Given the description of an element on the screen output the (x, y) to click on. 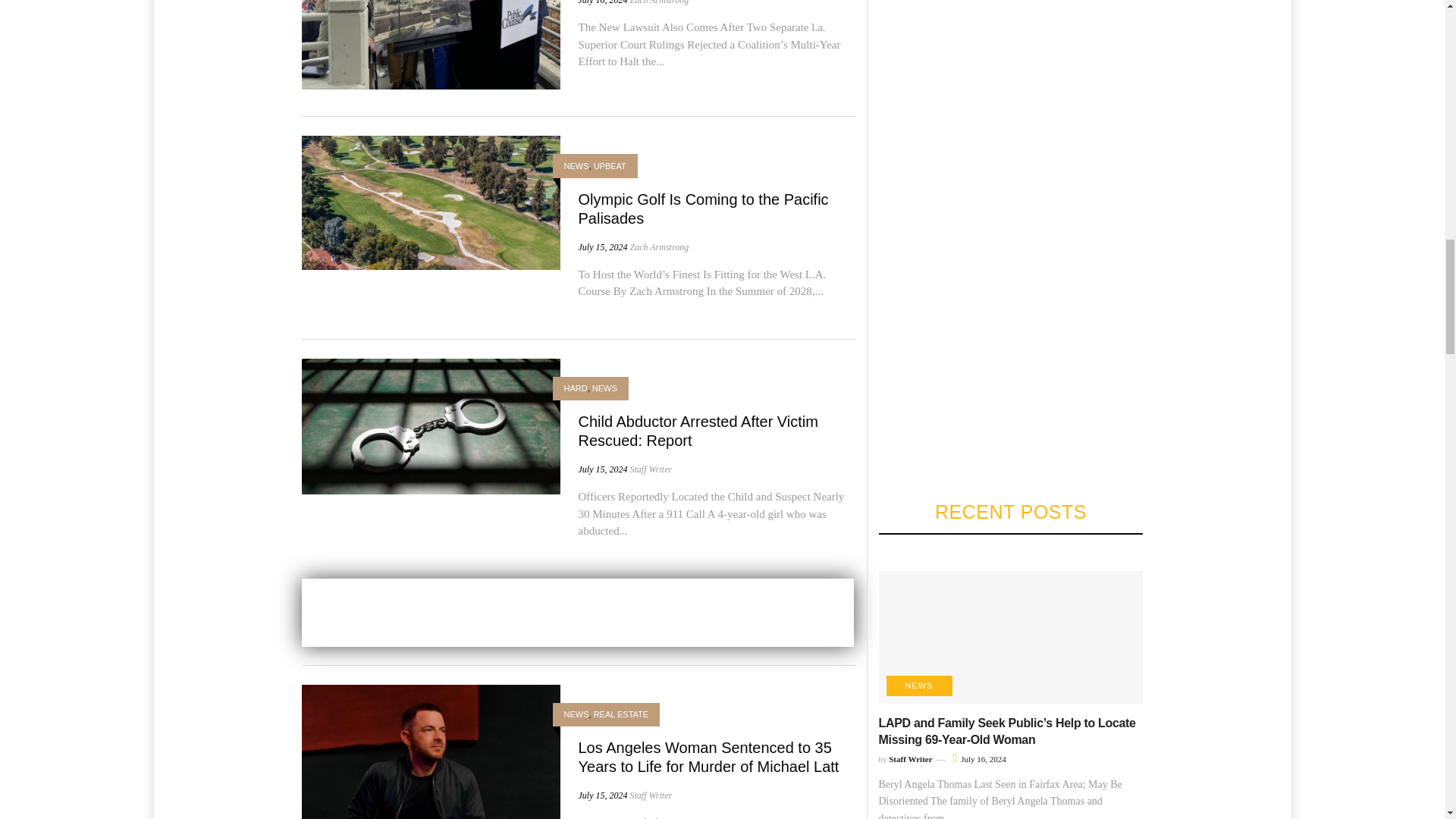
Olympic Golf Is Coming to the Pacific Palisades (703, 208)
Zach Armstrong (658, 2)
Posts by Zach Armstrong (658, 2)
Posts by Zach Armstrong (658, 246)
Olympic Golf Is Coming to the Pacific Palisades (430, 201)
Child Abductor Arrested After Victim Rescued: Report (697, 430)
Child Abductor Arrested After Victim Rescued: Report (430, 425)
